Given the description of an element on the screen output the (x, y) to click on. 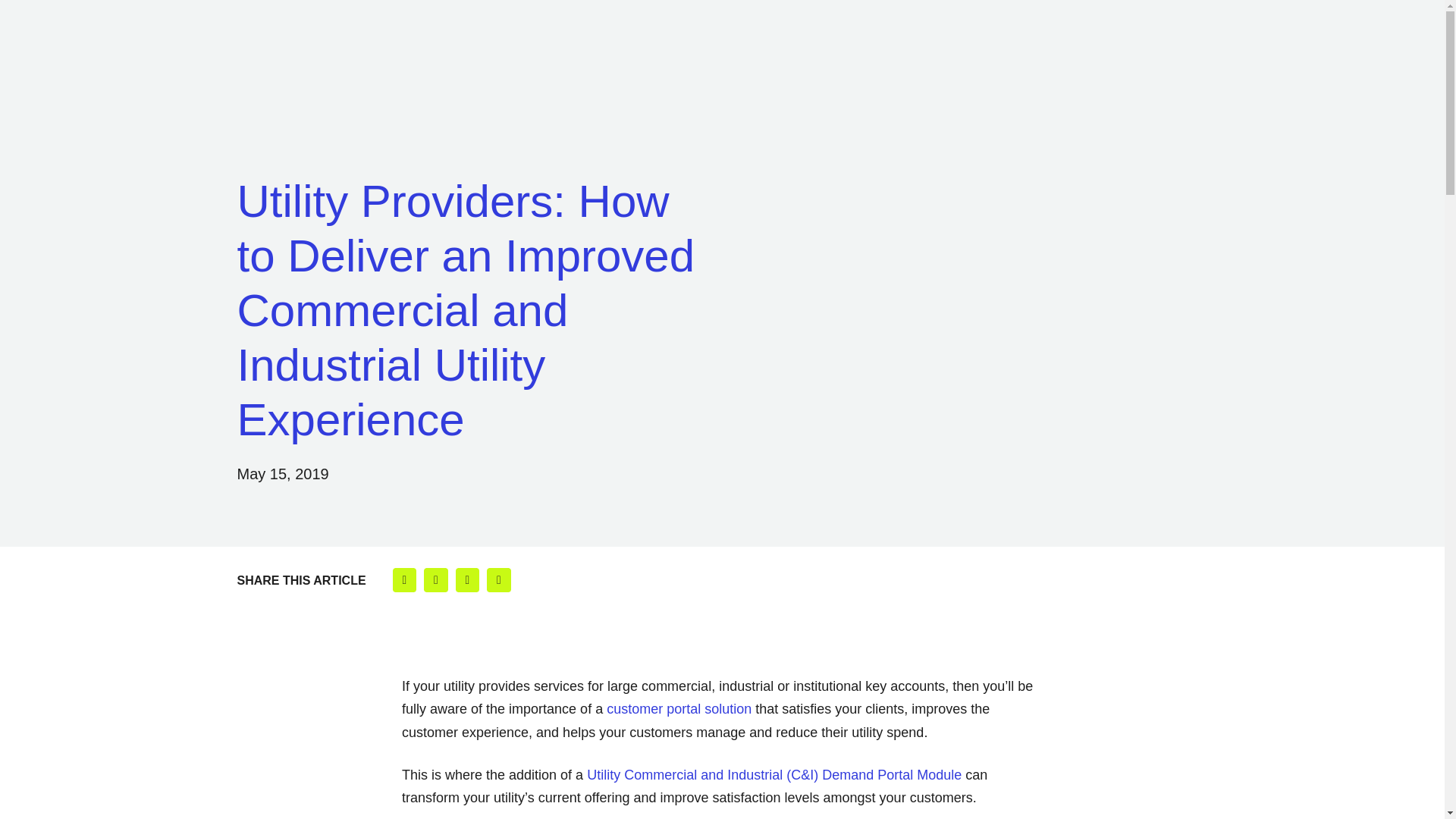
customer portal solution (679, 708)
